Given the description of an element on the screen output the (x, y) to click on. 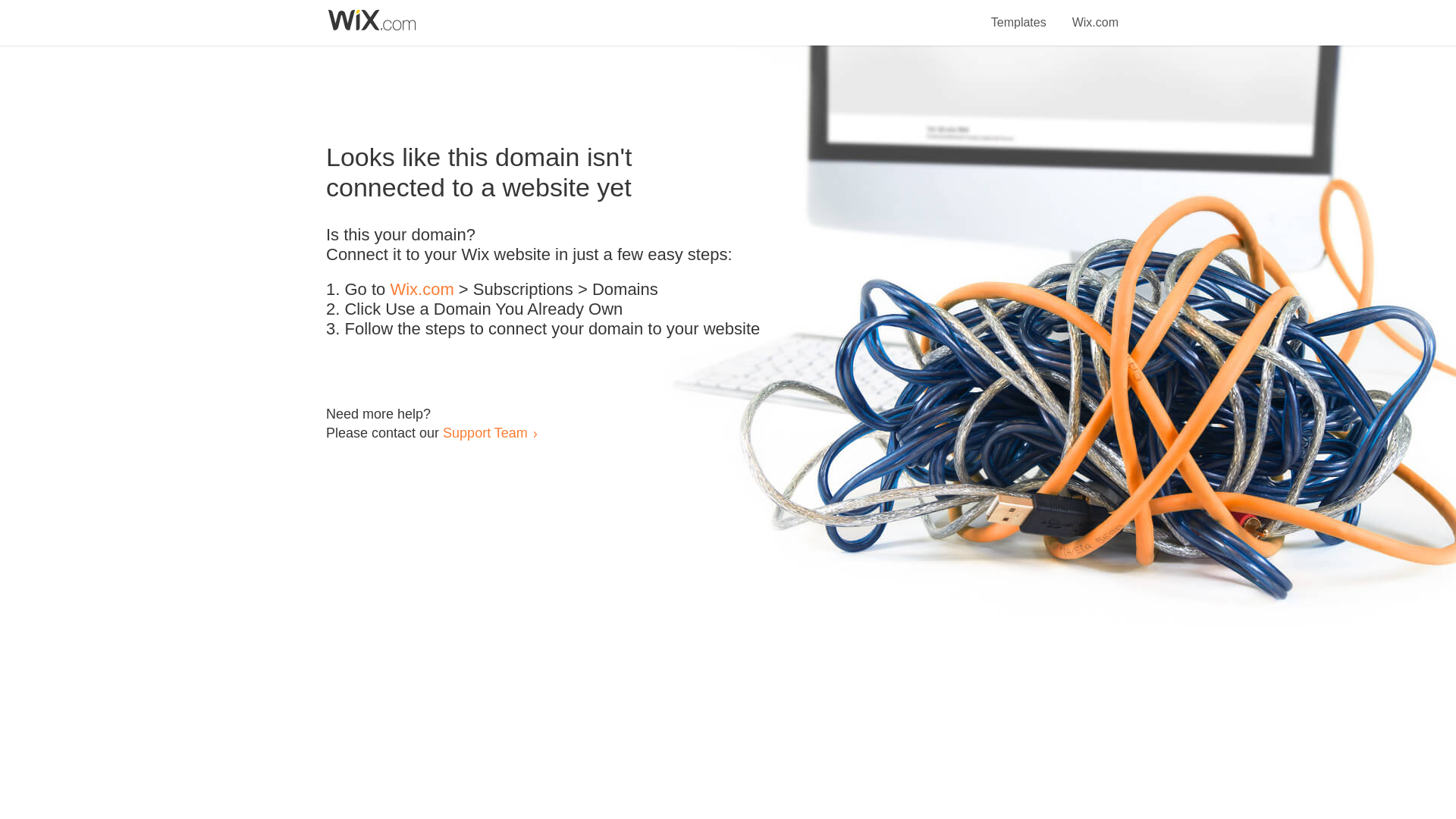
Support Team (484, 432)
Wix.com (421, 289)
Wix.com (1095, 14)
Templates (1018, 14)
